Given the description of an element on the screen output the (x, y) to click on. 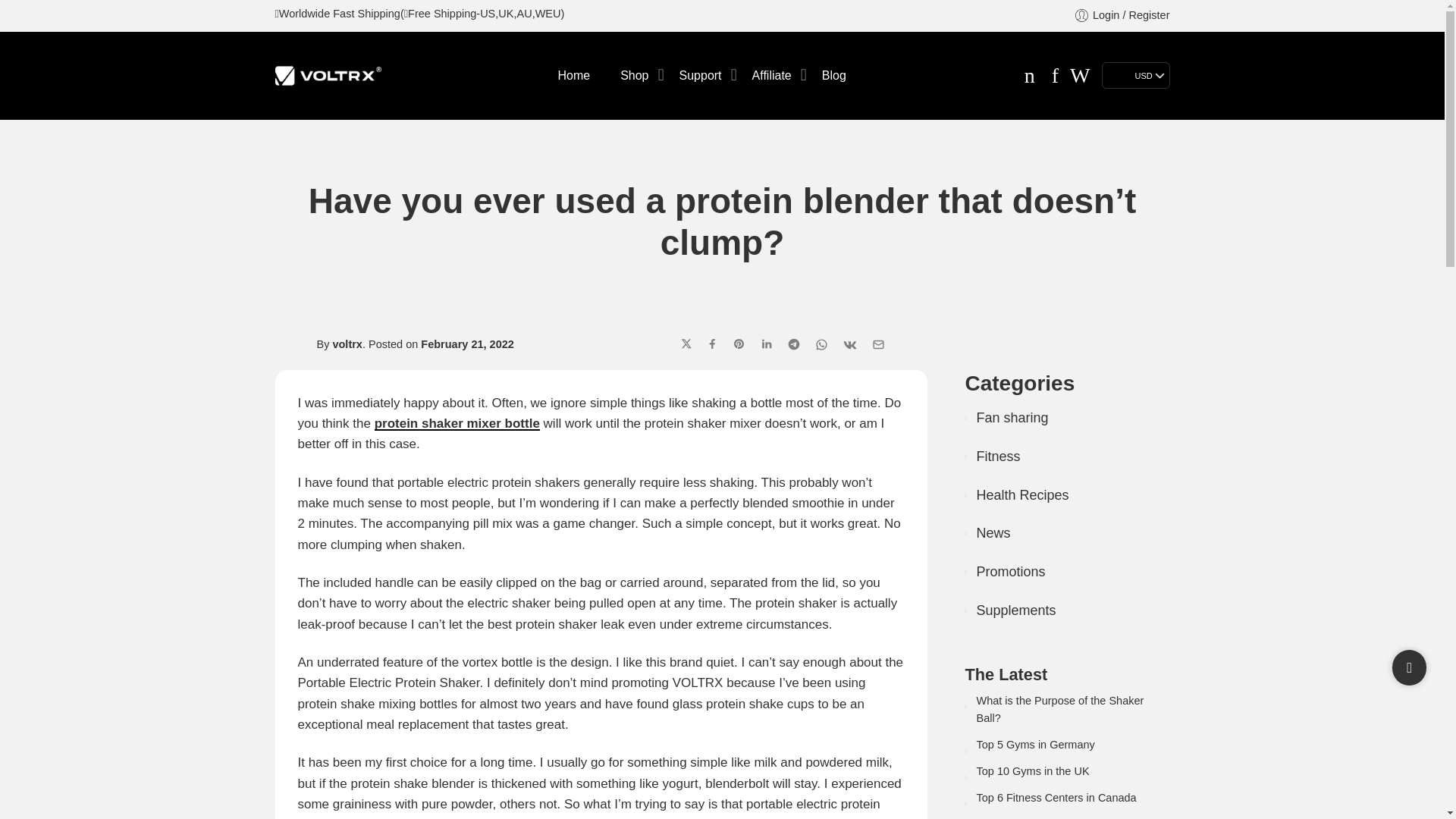
Affiliate (772, 75)
voltrx (346, 344)
Search (1079, 75)
Cart (1030, 75)
protein shaker mixer bottle (457, 423)
Affiliate (772, 75)
Support (700, 75)
11:02 pm (466, 344)
February 21, 2022 (466, 344)
View all posts by voltrx (346, 344)
